Given the description of an element on the screen output the (x, y) to click on. 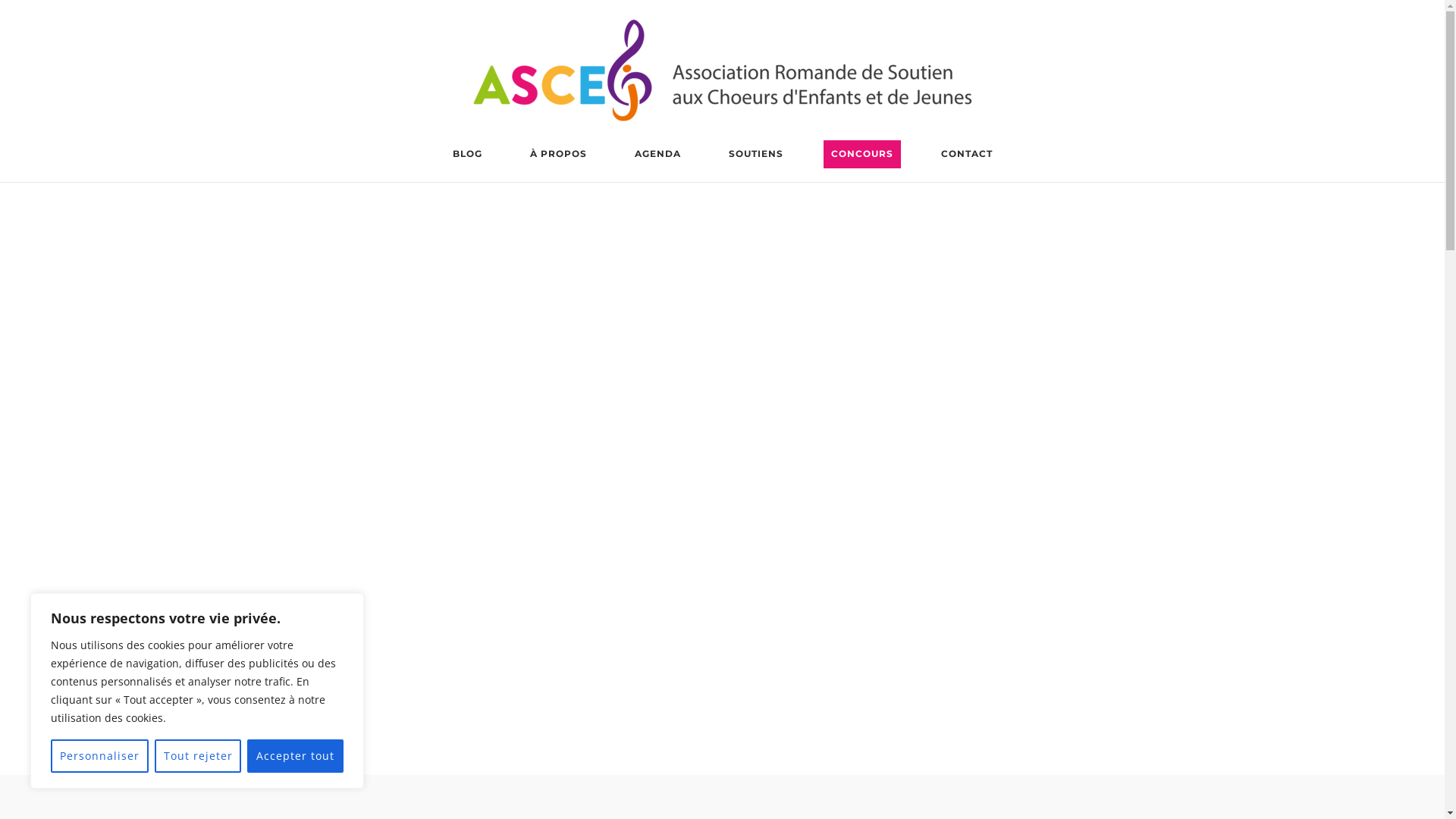
Personnaliser Element type: text (99, 755)
Accepter tout Element type: text (295, 755)
Tout rejeter Element type: text (197, 755)
BLOG Element type: text (466, 155)
CONTACT Element type: text (965, 155)
CONCOURS Element type: text (862, 155)
SOUTIENS Element type: text (755, 155)
AGENDA Element type: text (656, 155)
